Given the description of an element on the screen output the (x, y) to click on. 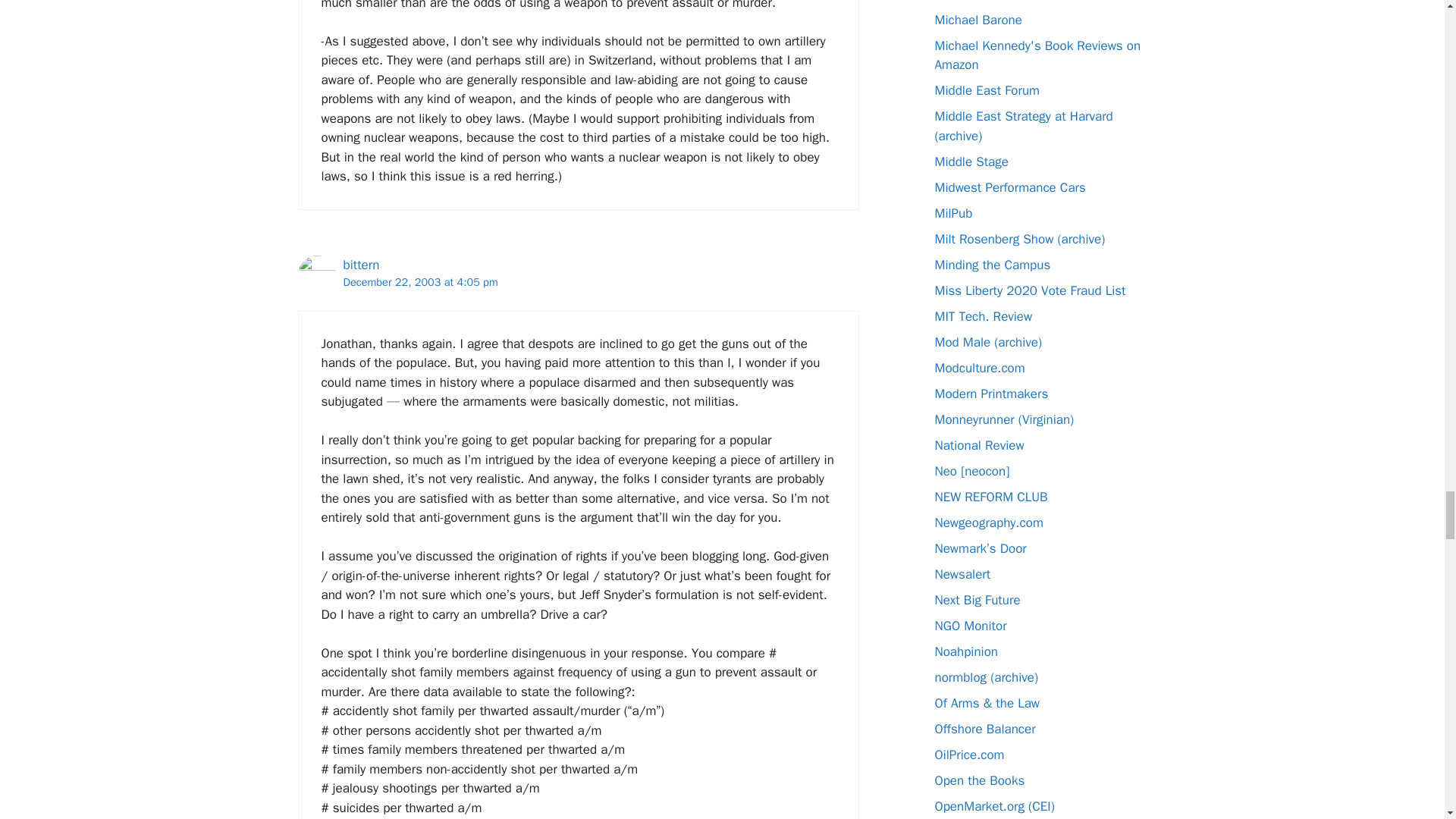
Natl. Review (978, 444)
